Given the description of an element on the screen output the (x, y) to click on. 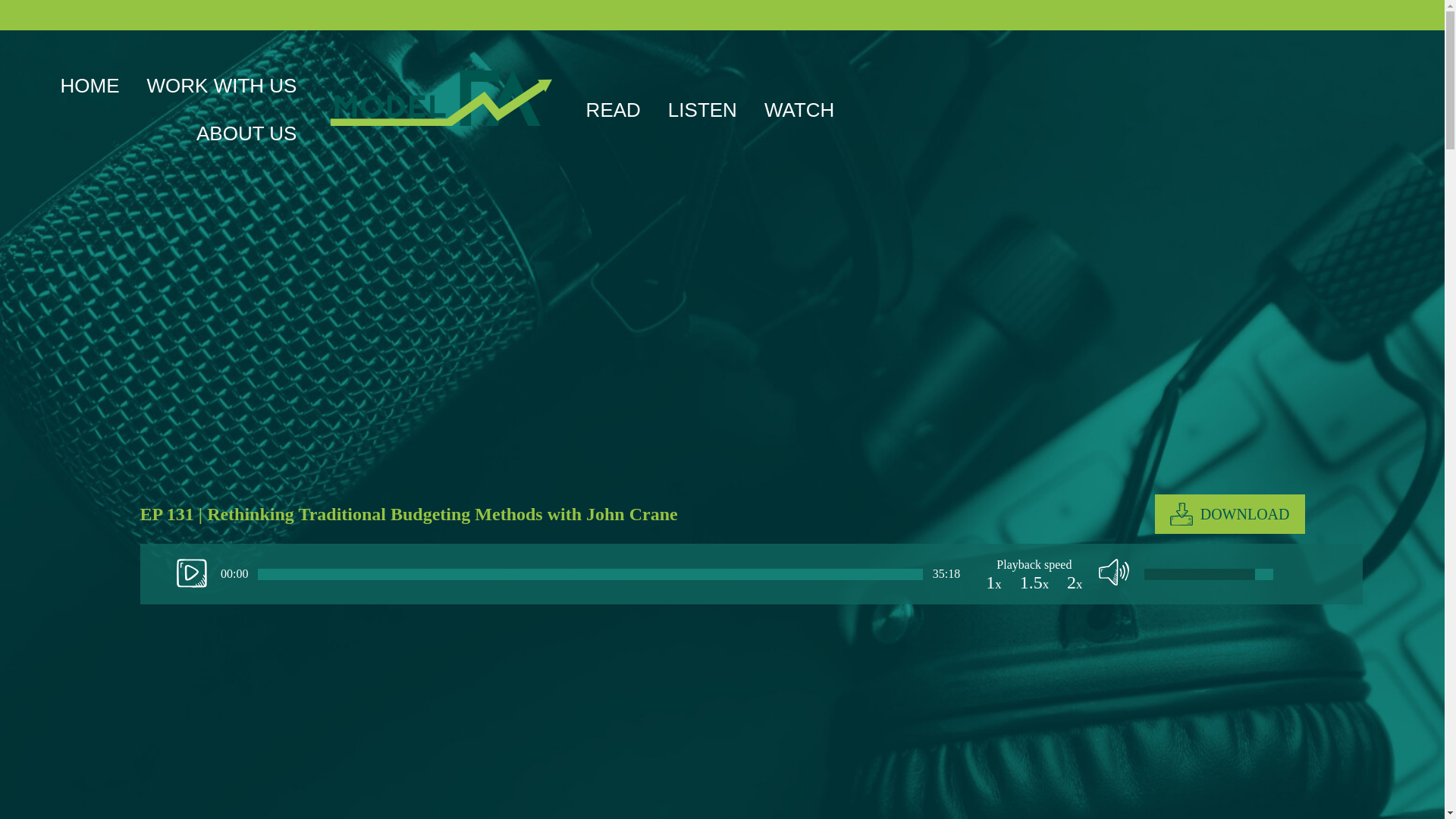
DOWNLOAD (1229, 513)
HOME (90, 85)
mute (1114, 573)
2x (1074, 582)
LISTEN (702, 109)
WATCH (799, 109)
play (191, 573)
1.5x (1034, 582)
ABOUT US (246, 133)
1x (993, 582)
WORK WITH US (222, 85)
READ (613, 109)
